Given the description of an element on the screen output the (x, y) to click on. 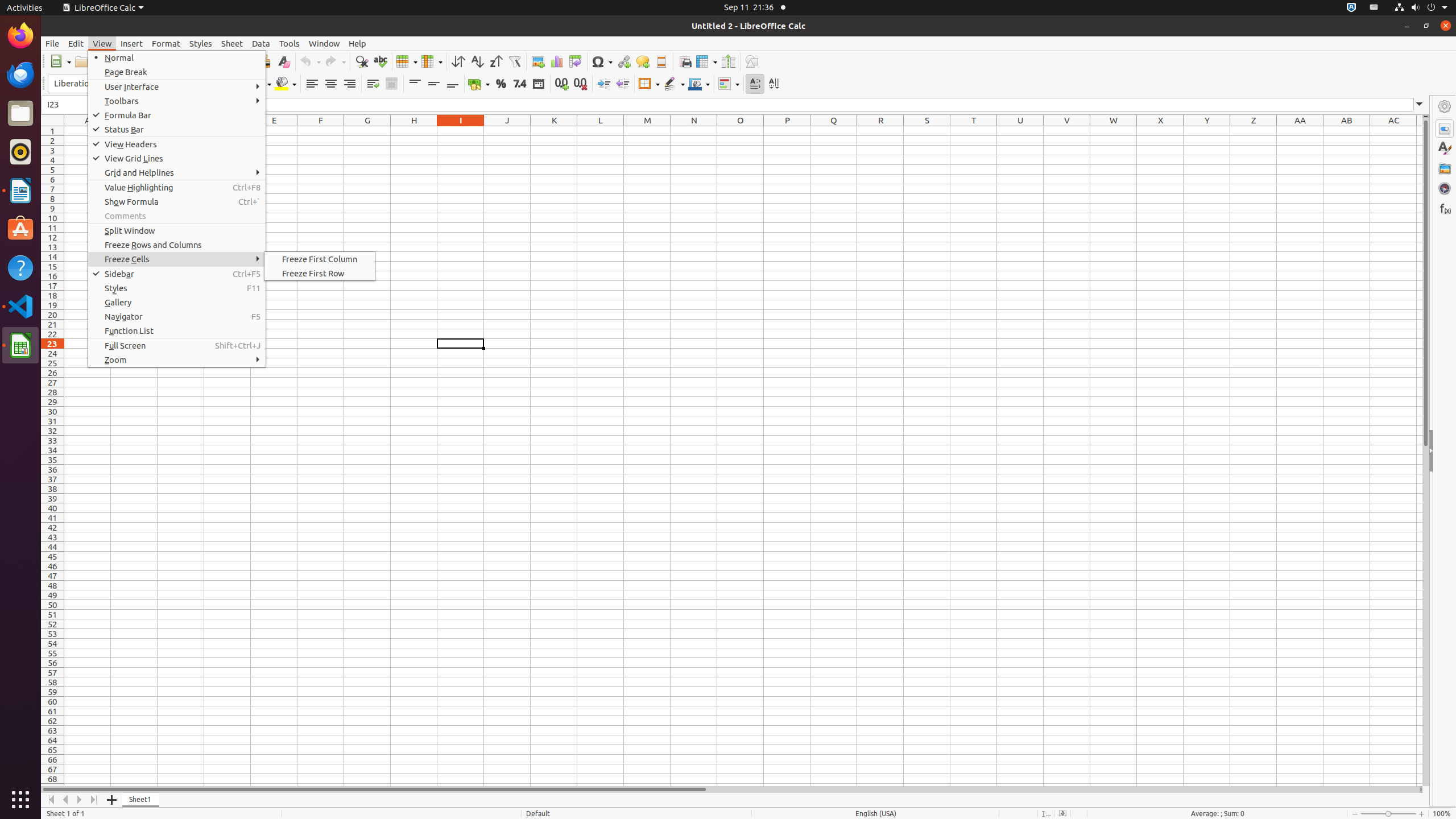
Chart Element type: push-button (556, 61)
Gallery Element type: menu-item (176, 302)
Move Right Element type: push-button (79, 799)
Window Element type: menu (324, 43)
Delete Decimal Place Element type: push-button (580, 83)
